Given the description of an element on the screen output the (x, y) to click on. 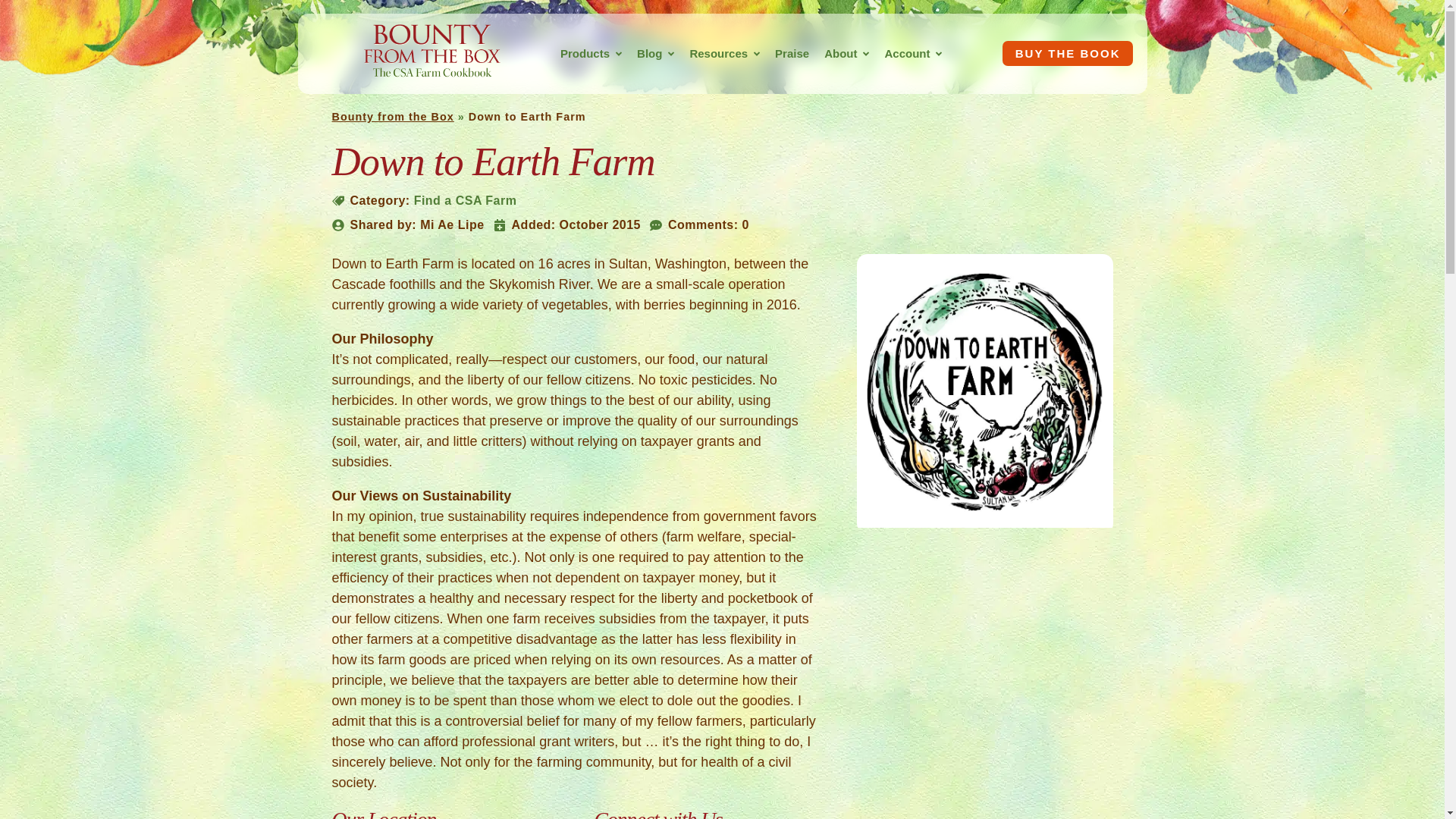
Resources (714, 53)
Praise (791, 53)
Products (581, 53)
Account (903, 53)
Blog (645, 53)
About (836, 53)
